Given the description of an element on the screen output the (x, y) to click on. 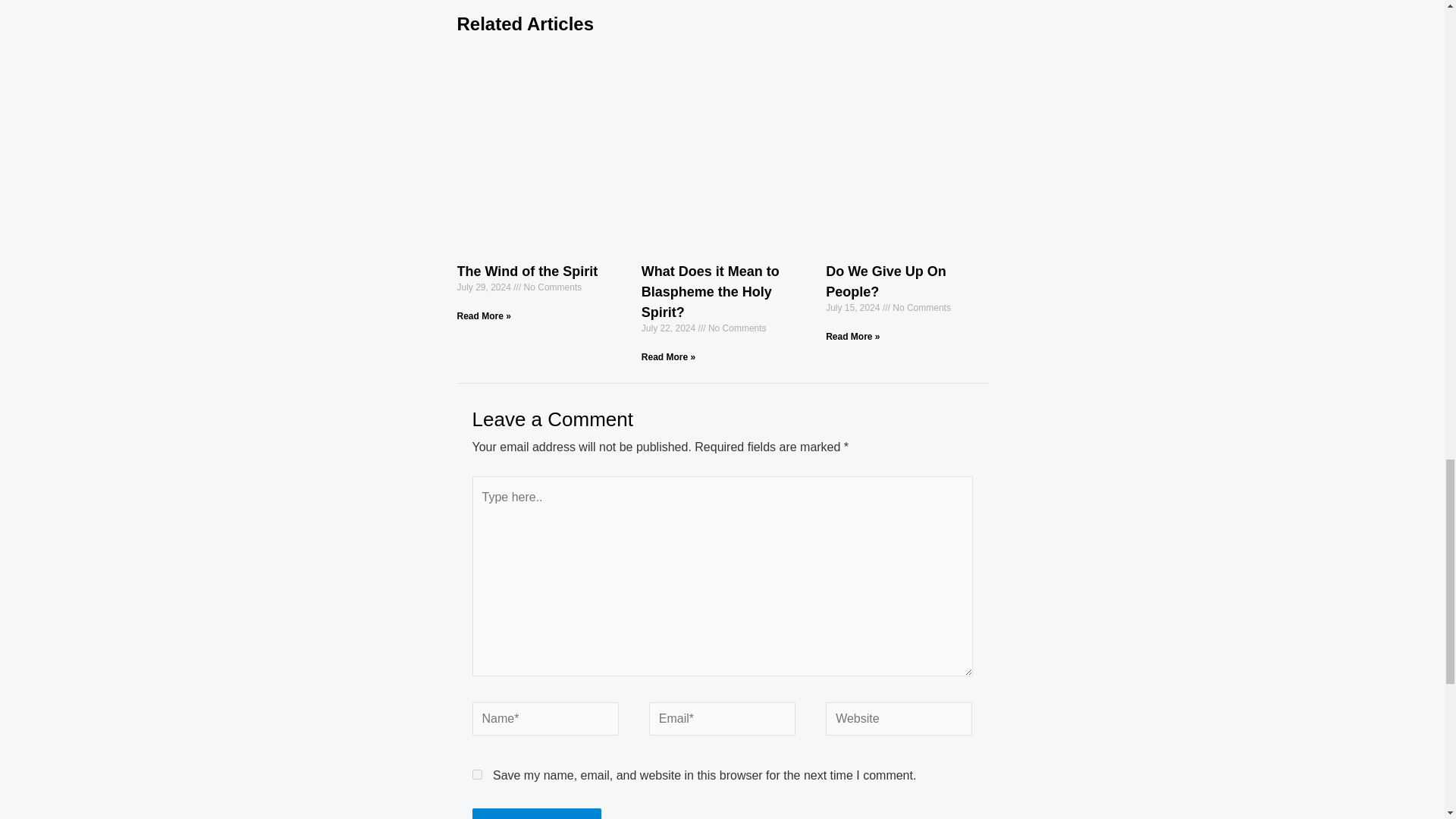
The Wind of the Spirit (526, 271)
Do We Give Up On People? (885, 281)
yes (710, 291)
